Given the description of an element on the screen output the (x, y) to click on. 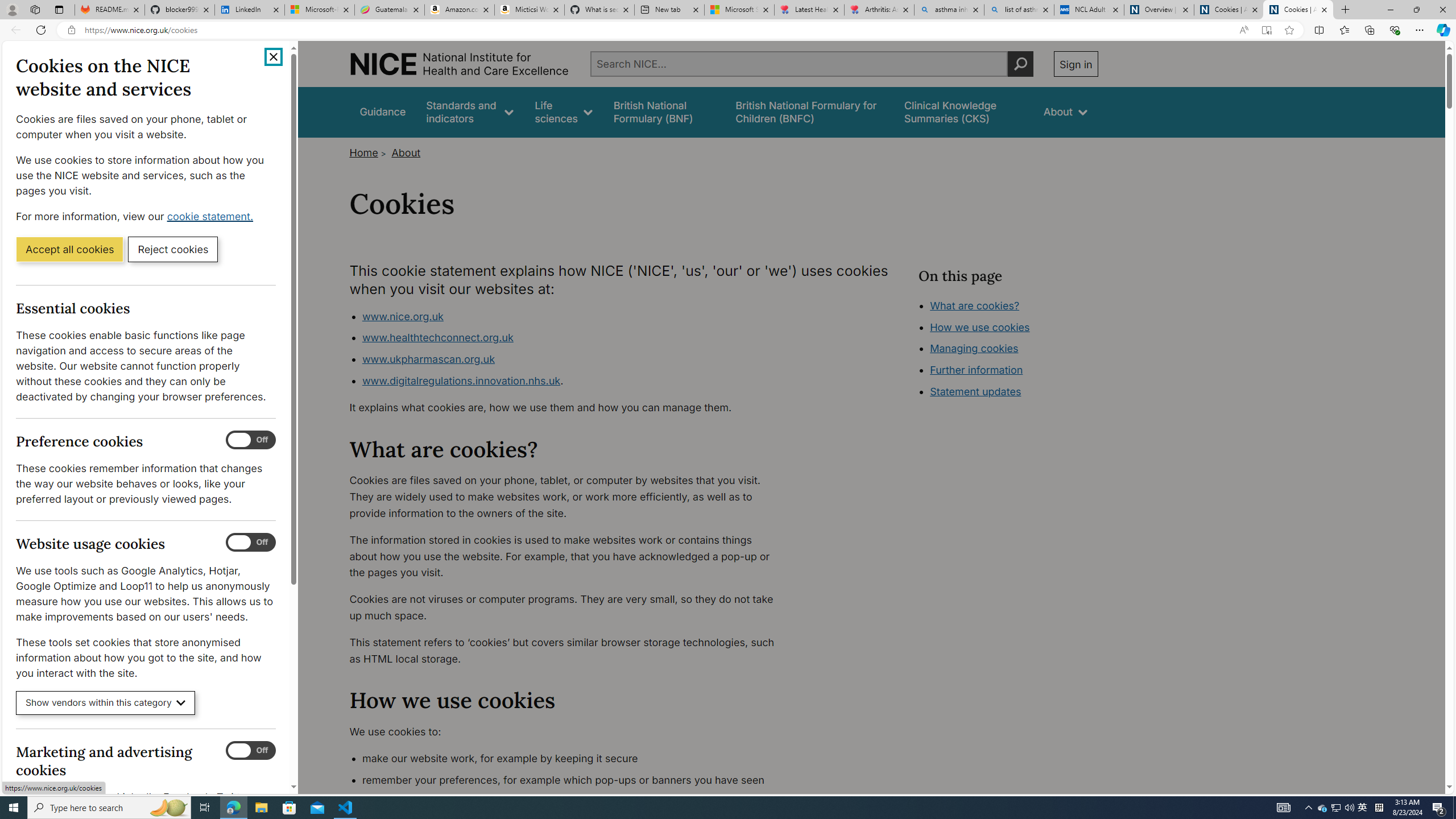
LinkedIn (249, 9)
Managing cookies (974, 348)
Reject cookies (173, 248)
Perform search (1020, 63)
How we use cookies (979, 327)
Class: in-page-nav__list (1007, 349)
www.digitalregulations.innovation.nhs.uk. (575, 380)
Enter Immersive Reader (F9) (1266, 29)
Accept all cookies (69, 248)
